Given the description of an element on the screen output the (x, y) to click on. 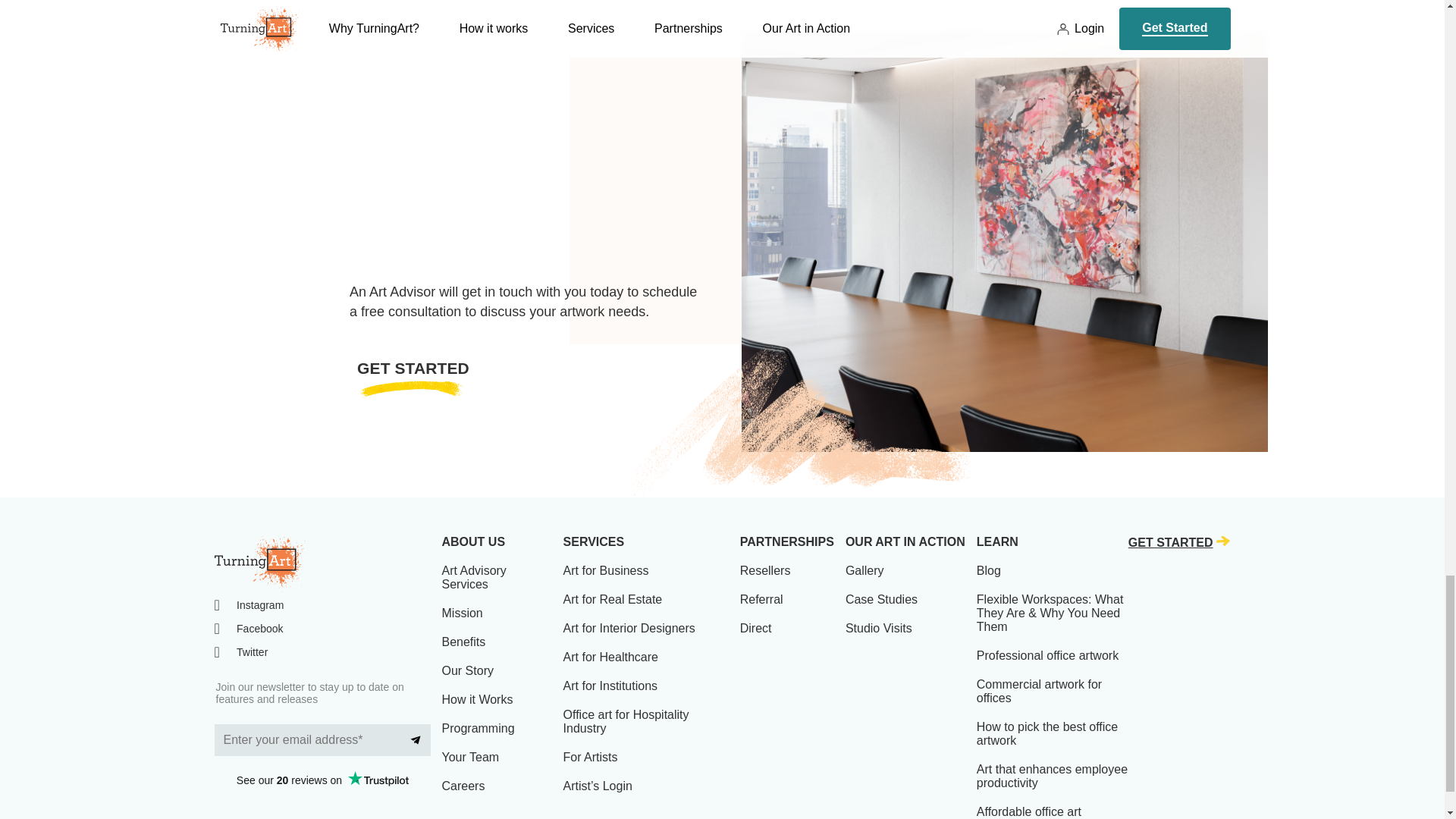
Submit (415, 739)
Customer reviews powered by Trustpilot (321, 780)
